Given the description of an element on the screen output the (x, y) to click on. 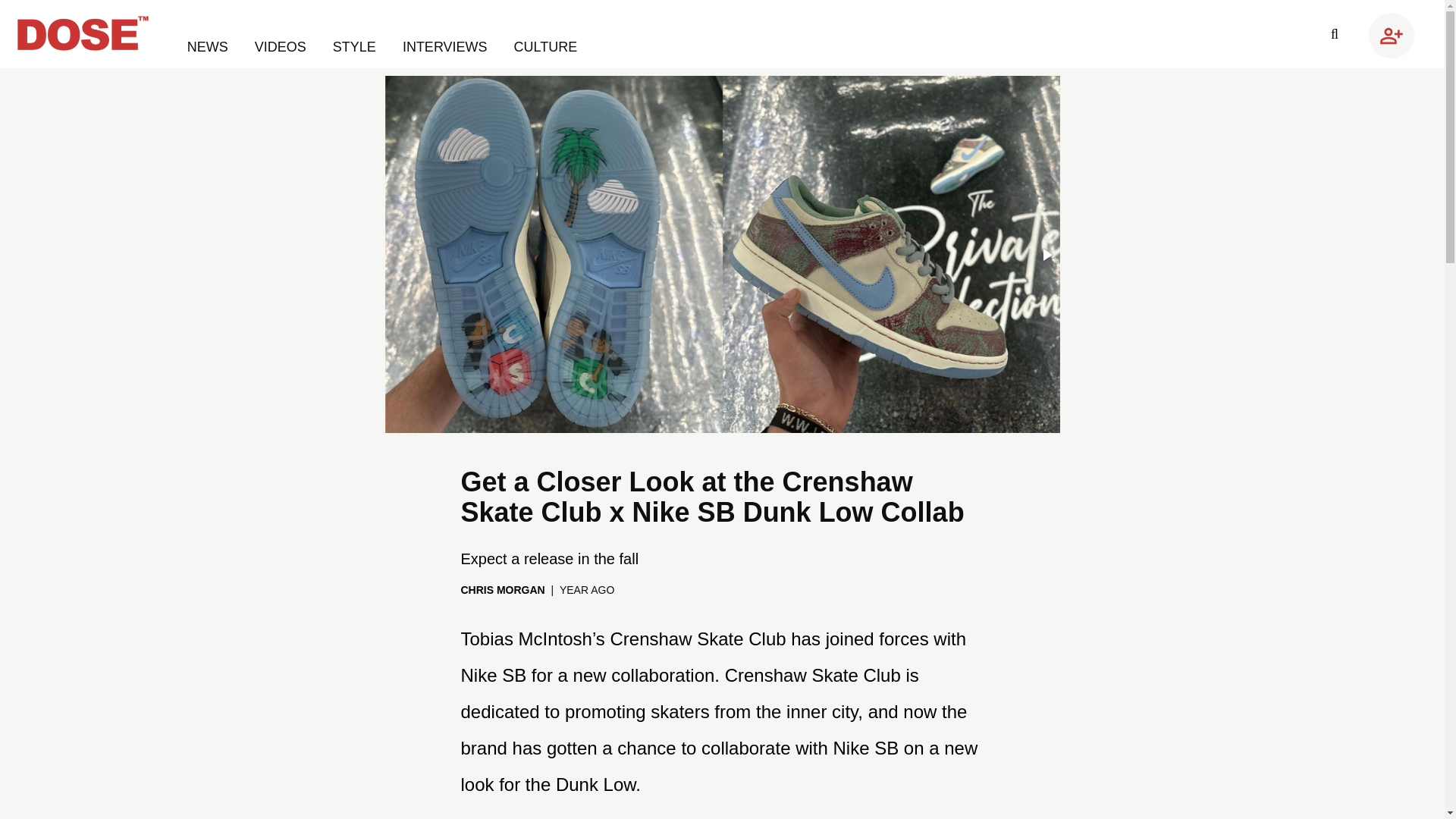
VIDEOS (282, 46)
STYLE (356, 46)
CHRIS MORGAN (502, 589)
NEWS (209, 46)
INTERVIEWS (447, 46)
02.05.23 23:35 (586, 589)
CULTURE (545, 46)
